Given the description of an element on the screen output the (x, y) to click on. 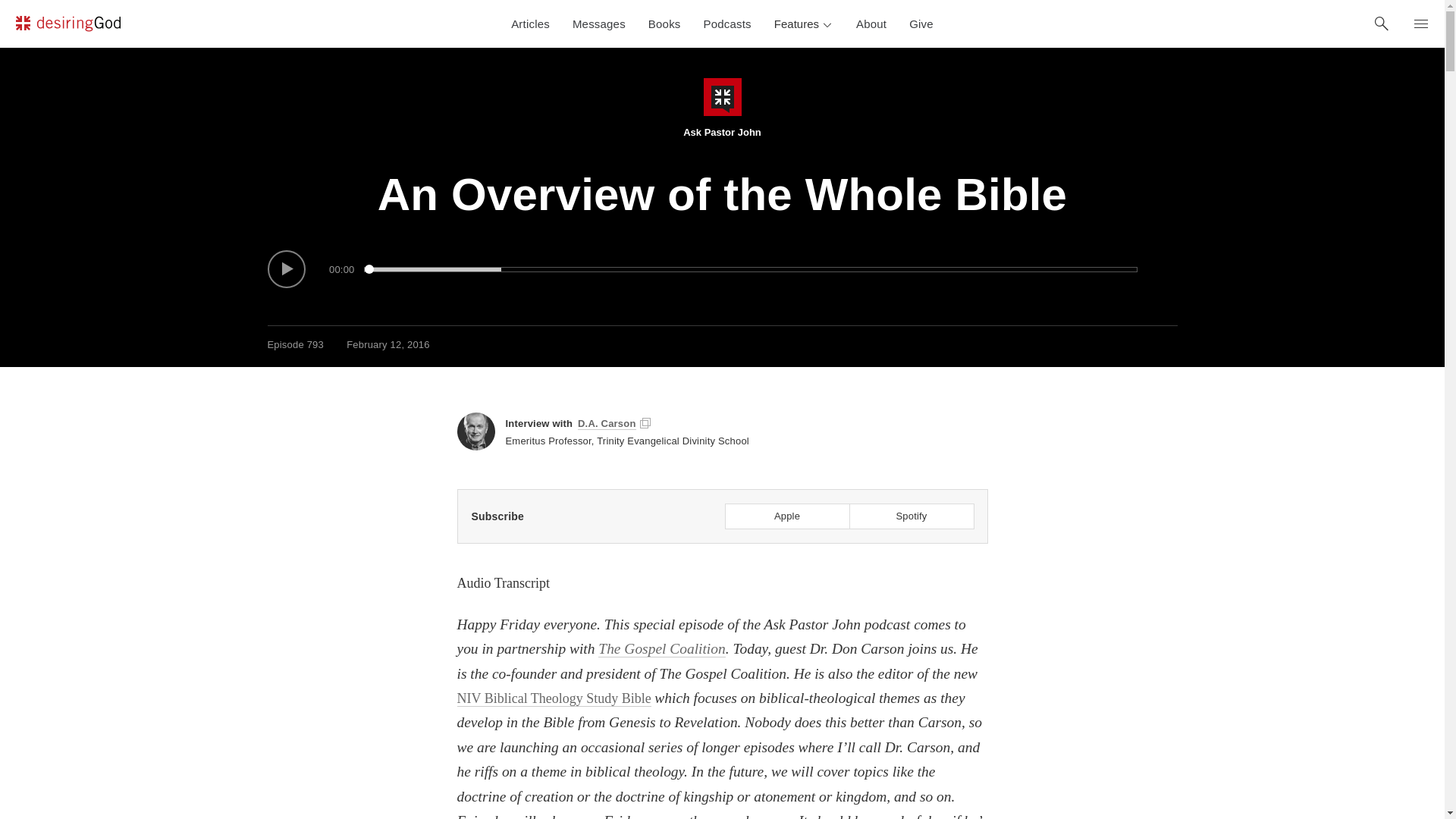
Give (921, 23)
Ask Pastor John (721, 108)
Features (803, 23)
Desiring God Logo (67, 23)
Messages (598, 23)
Books (665, 23)
Podcasts (727, 23)
Articles (529, 23)
Desiring God Logo (67, 25)
About (871, 23)
